Given the description of an element on the screen output the (x, y) to click on. 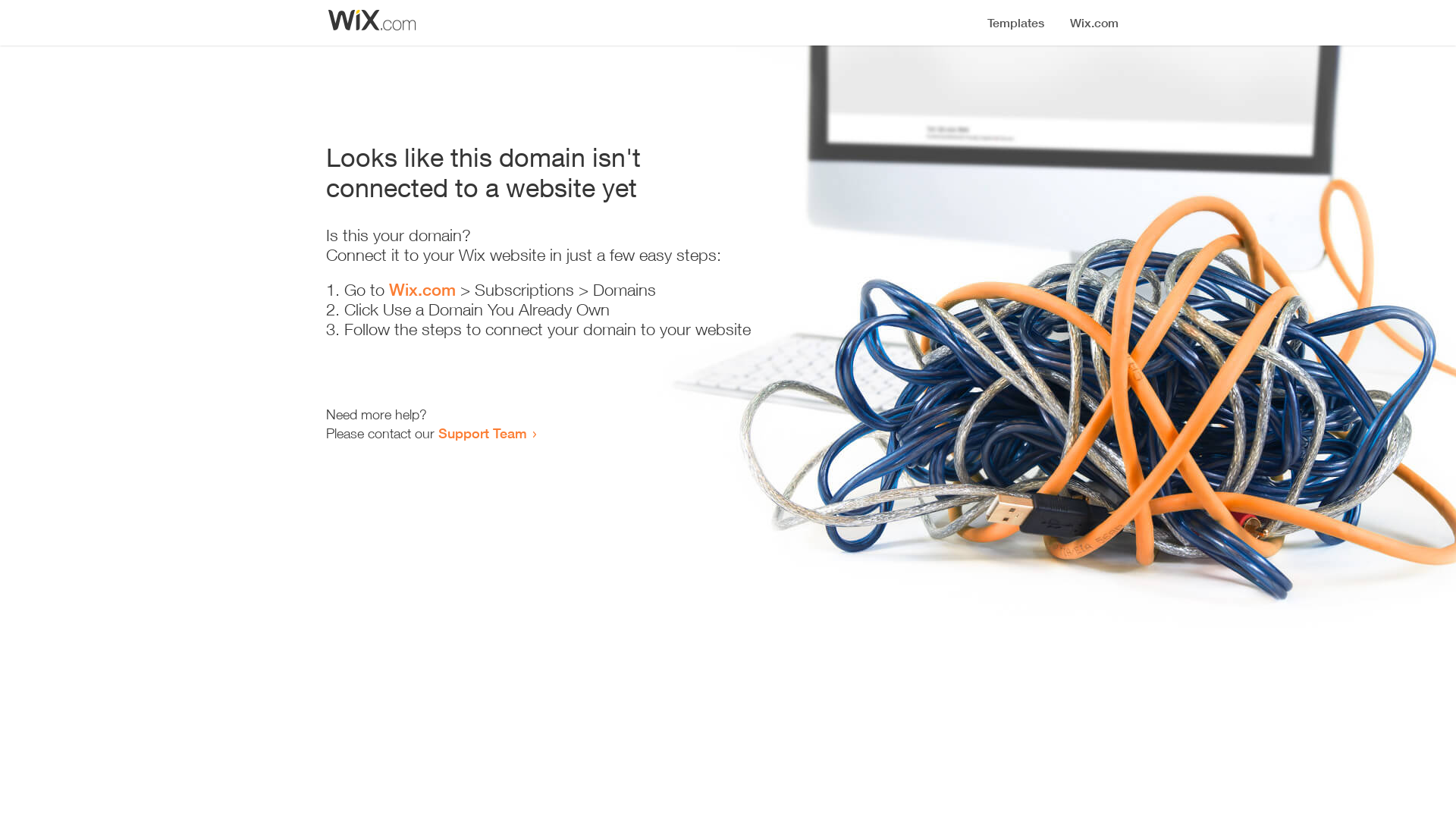
Wix.com Element type: text (422, 289)
Support Team Element type: text (482, 432)
